Given the description of an element on the screen output the (x, y) to click on. 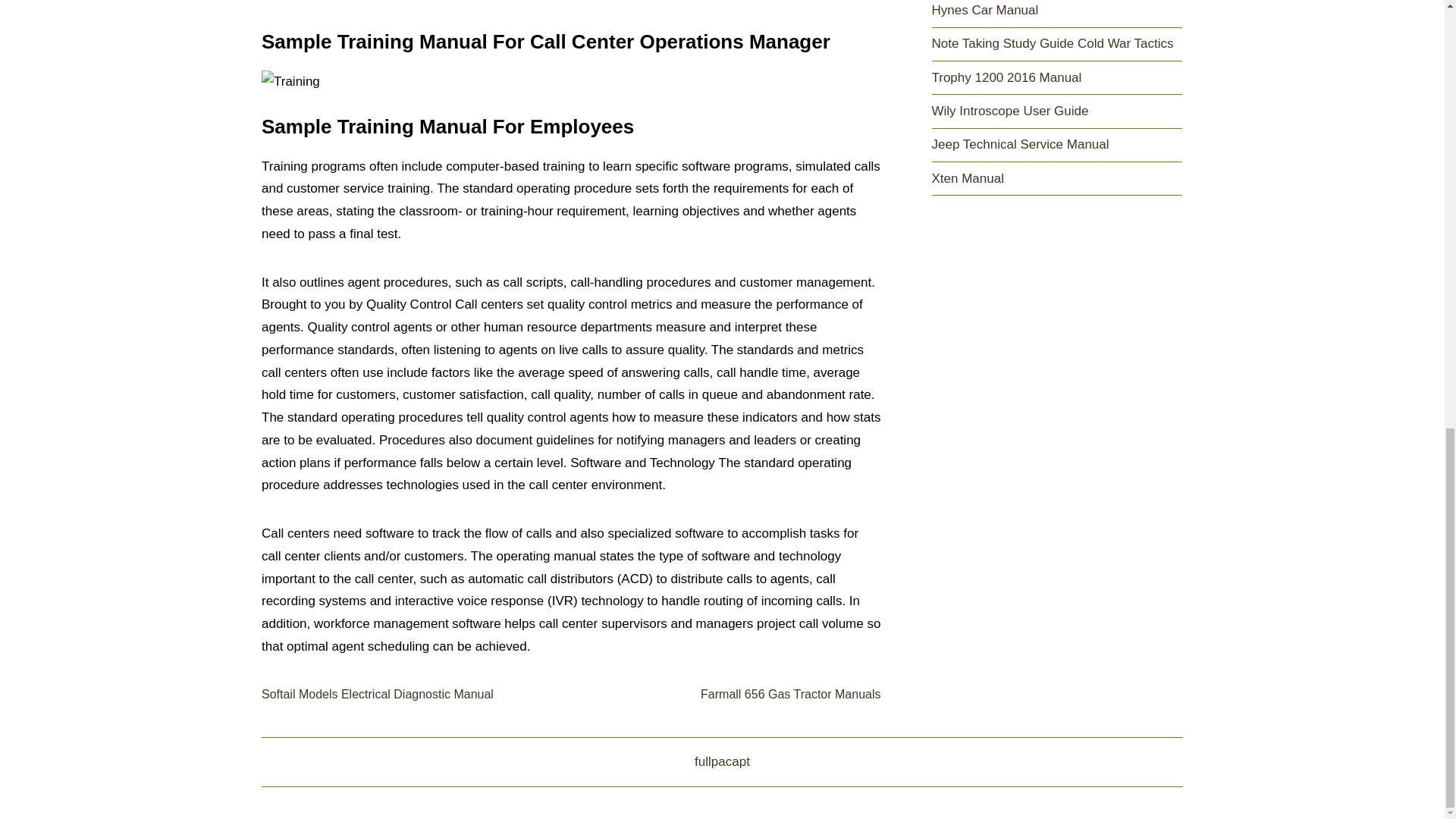
Xten Manual (967, 178)
Jeep Technical Service Manual (1019, 144)
Training (291, 81)
Trophy 1200 2016 Manual (1006, 77)
fullpacapt (721, 761)
Softail Models Electrical Diagnostic Manual (377, 694)
Farmall 656 Gas Tractor Manuals (790, 694)
Note Taking Study Guide Cold War Tactics (1052, 43)
Wily Introscope User Guide (1009, 110)
Hynes Car Manual (984, 10)
